Given the description of an element on the screen output the (x, y) to click on. 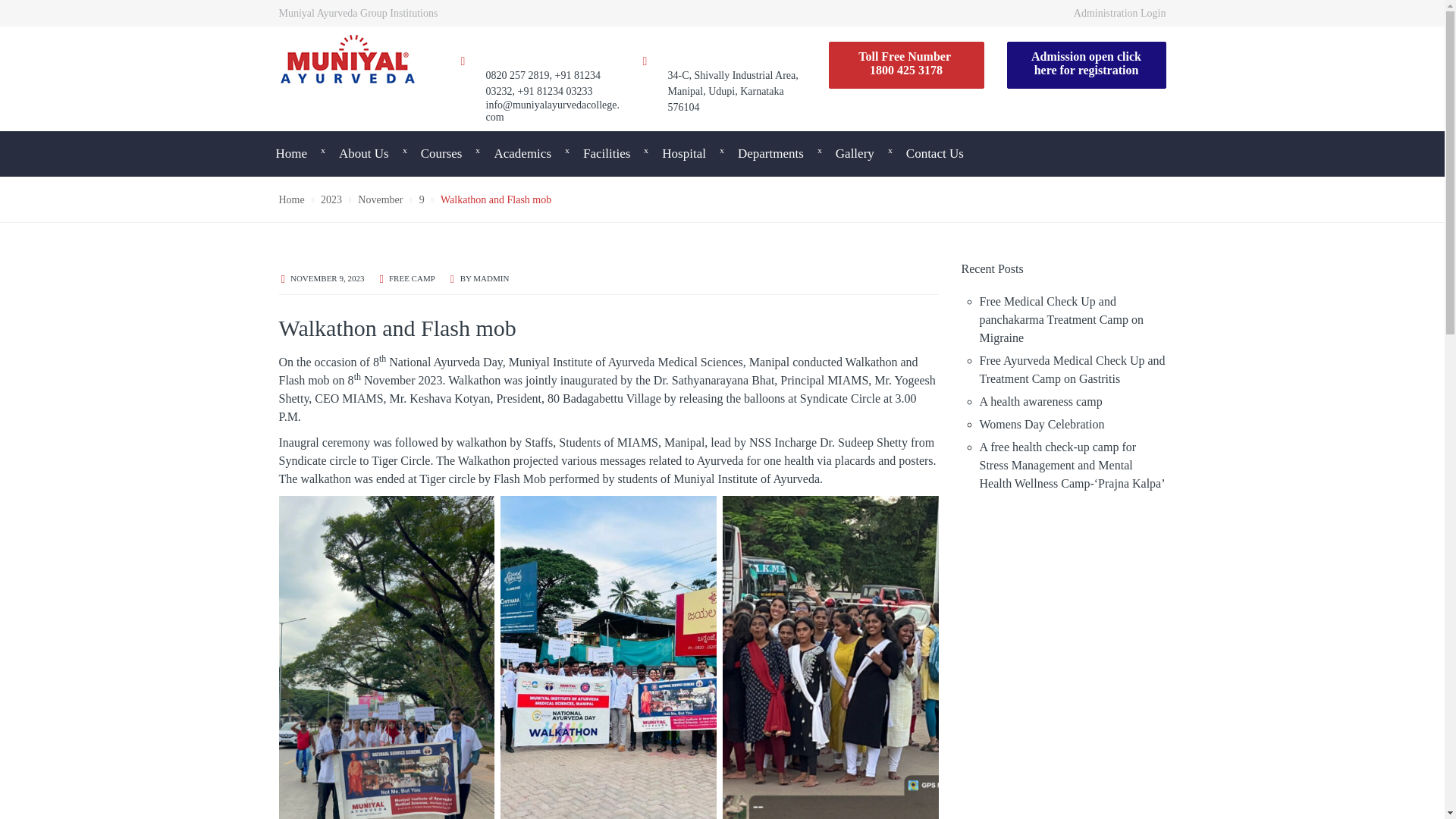
View all posts by Madmin (490, 277)
Permalink to Walkathon and Flash mob (326, 277)
